Given the description of an element on the screen output the (x, y) to click on. 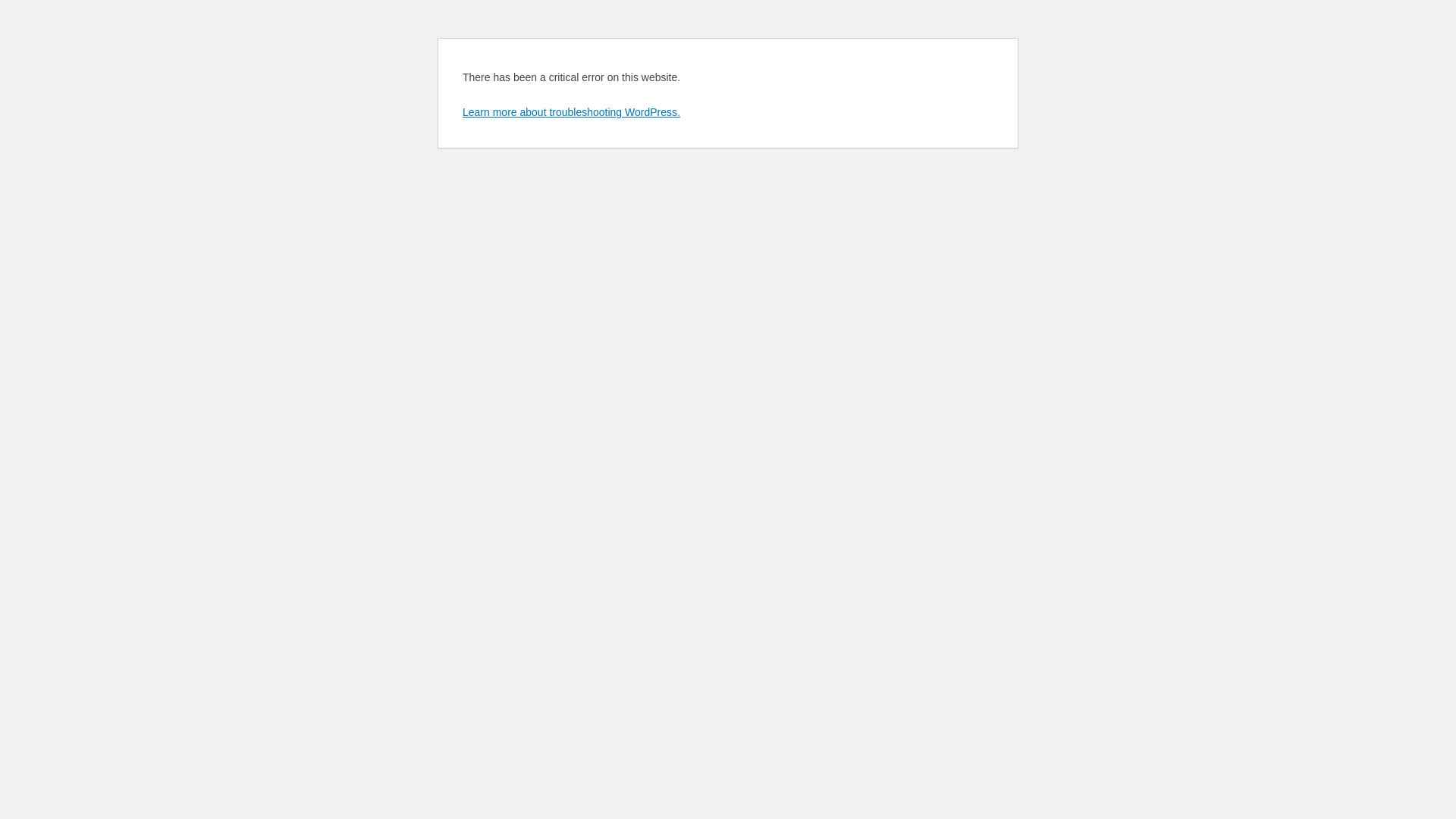
Learn more about troubleshooting WordPress. Element type: text (571, 112)
